Given the description of an element on the screen output the (x, y) to click on. 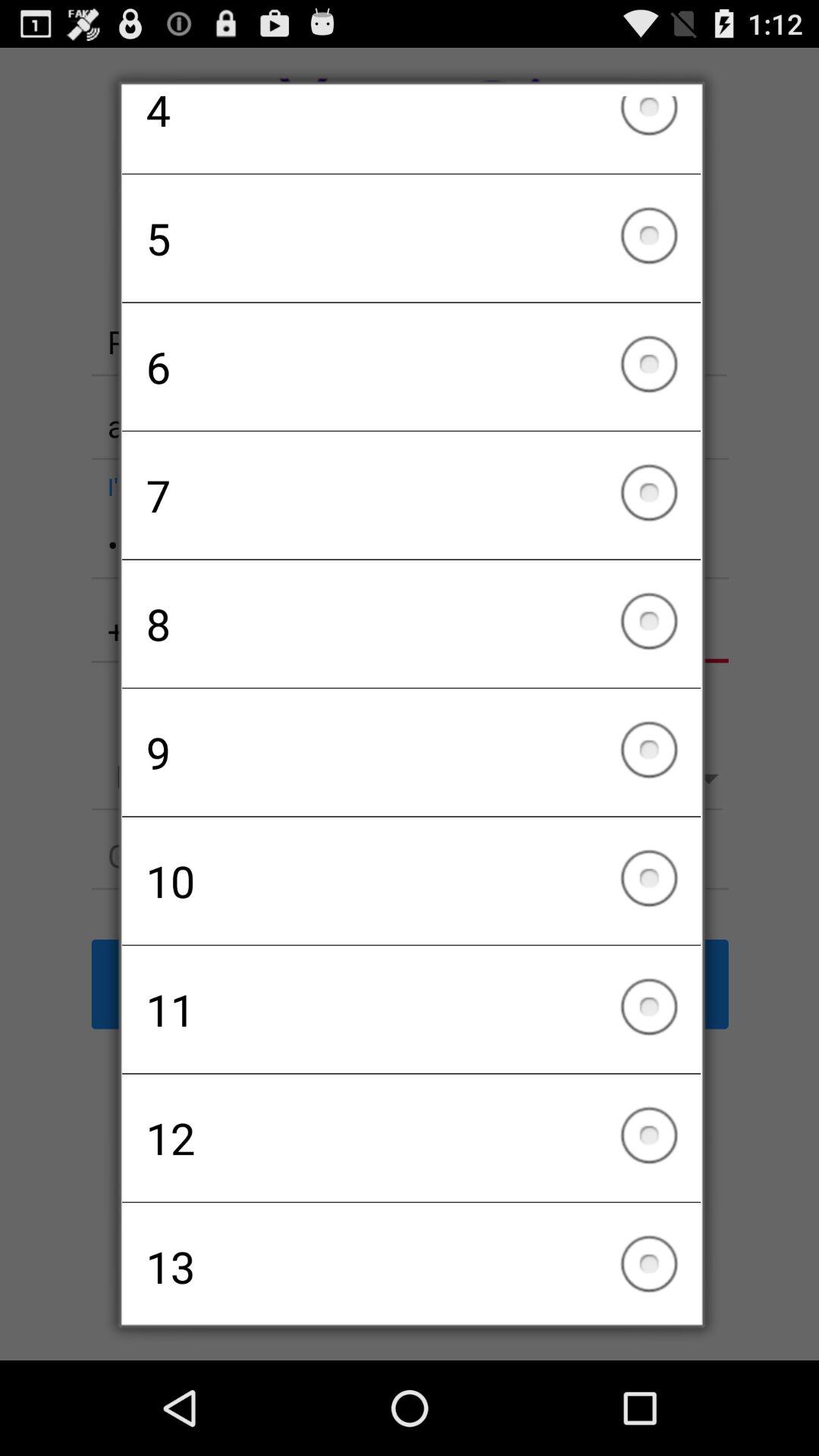
scroll to the 13 icon (411, 1257)
